Given the description of an element on the screen output the (x, y) to click on. 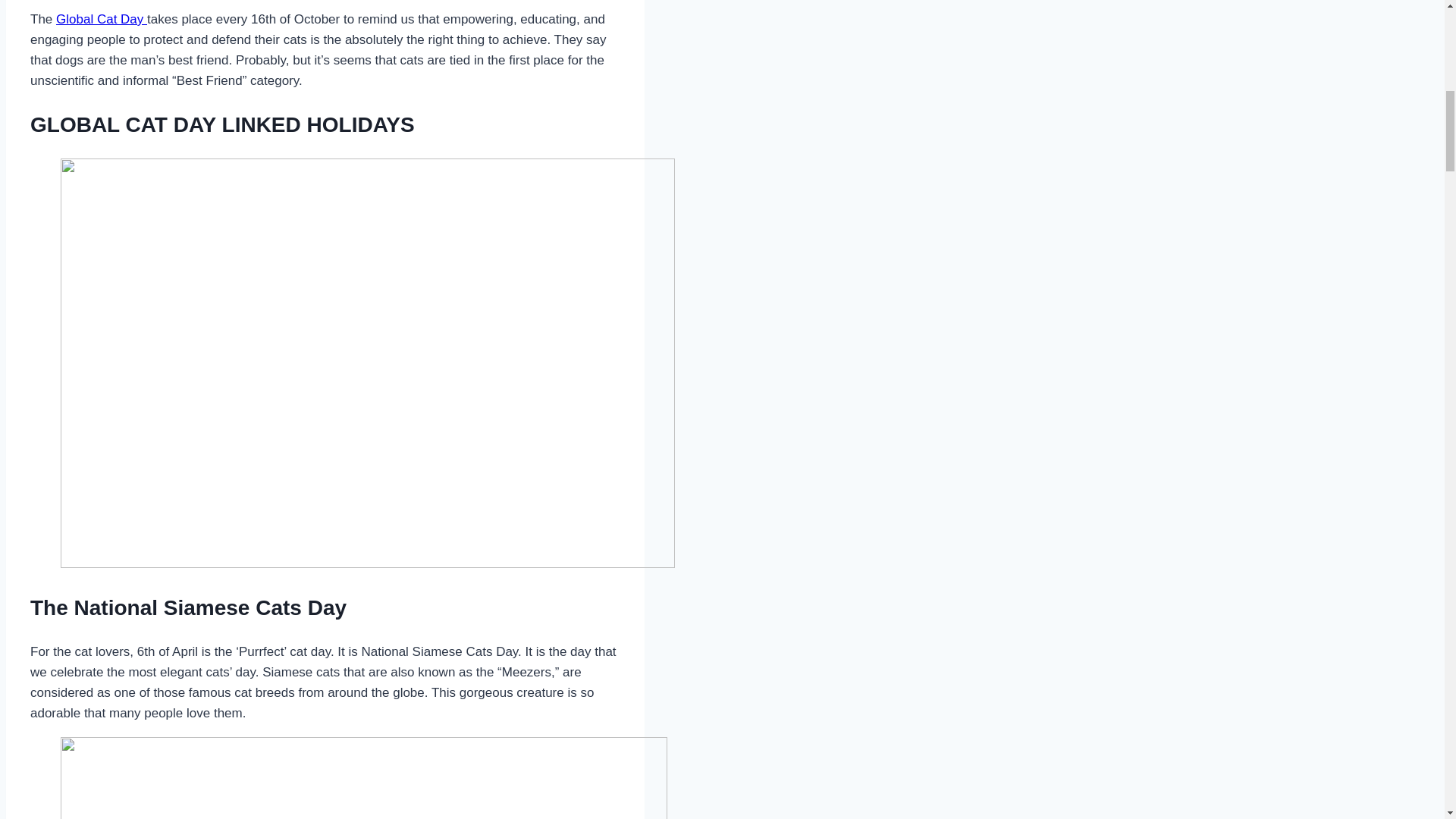
Global Cat Day (101, 19)
